Given the description of an element on the screen output the (x, y) to click on. 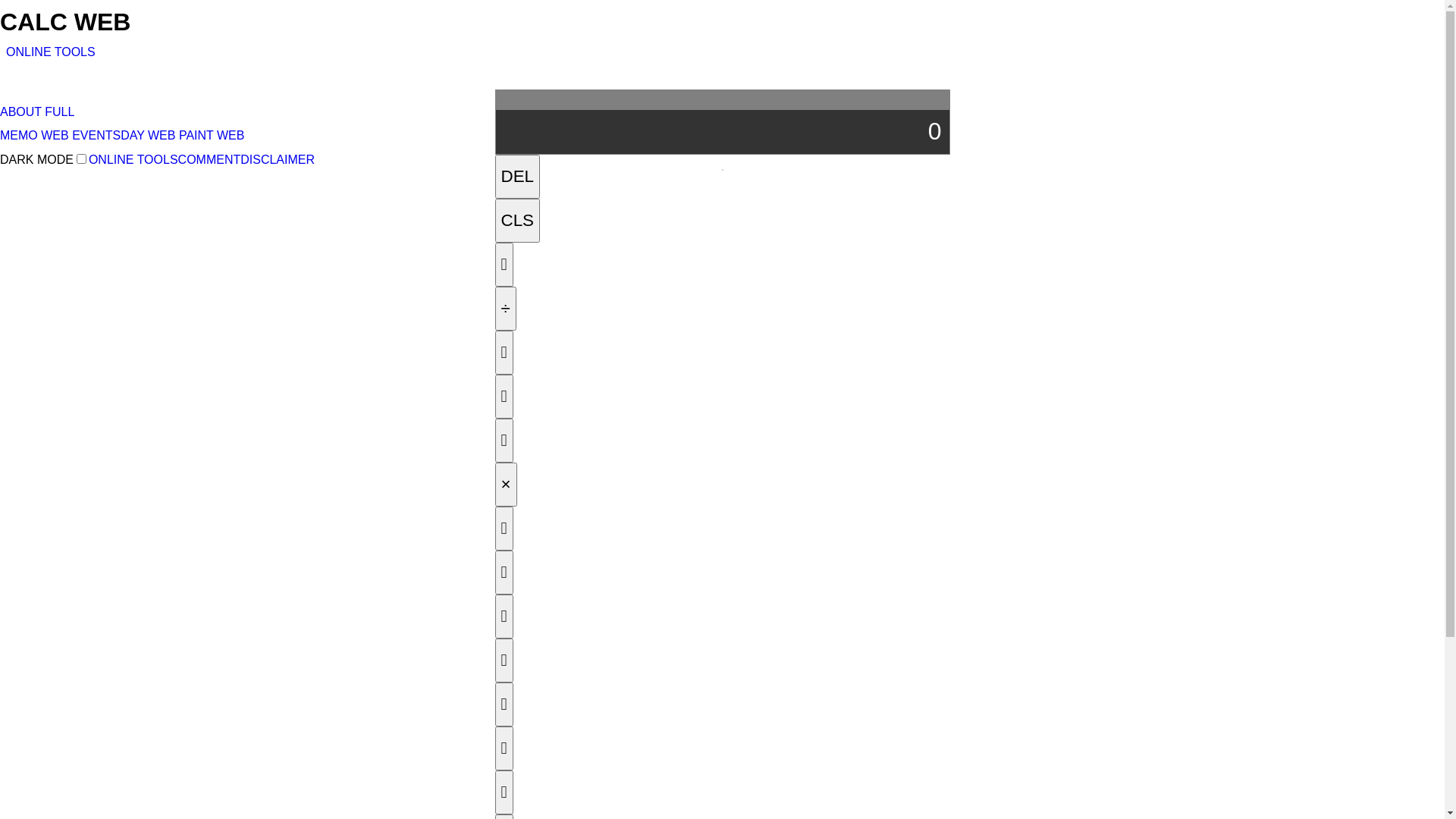
ONLINE TOOLS Element type: text (50, 51)
COMMENT Element type: text (209, 159)
PAINT WEB Element type: text (211, 134)
EVENTSDAY WEB Element type: text (123, 134)
ONLINE TOOLS Element type: text (133, 159)
ABOUT Element type: text (20, 111)
MEMO WEB Element type: text (34, 134)
DISCLAIMER Element type: text (277, 159)
CLS Element type: text (516, 220)
FULL Element type: text (59, 111)
DEL Element type: text (516, 176)
